Given the description of an element on the screen output the (x, y) to click on. 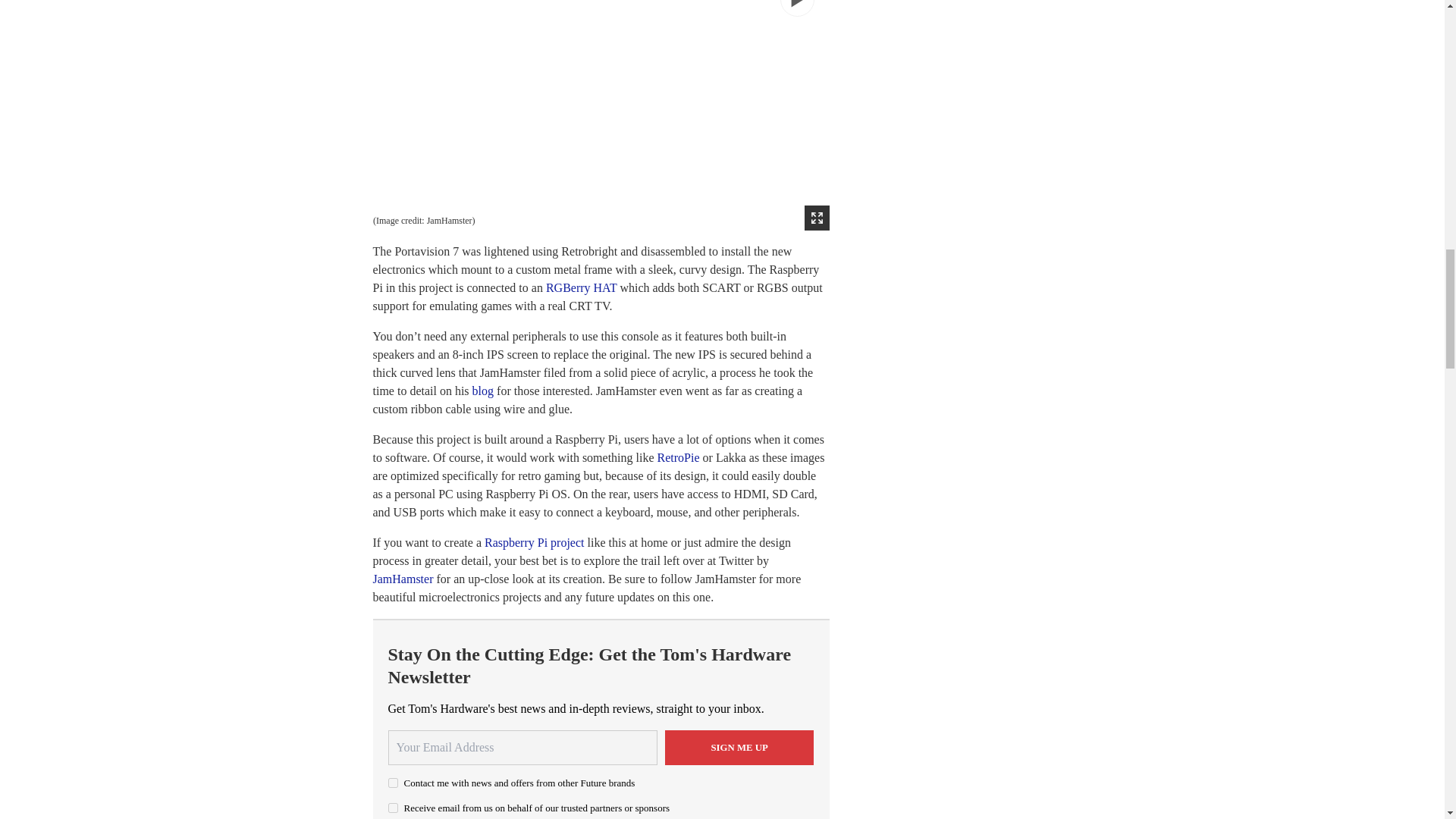
Sign me up (739, 747)
on (392, 808)
on (392, 782)
